Given the description of an element on the screen output the (x, y) to click on. 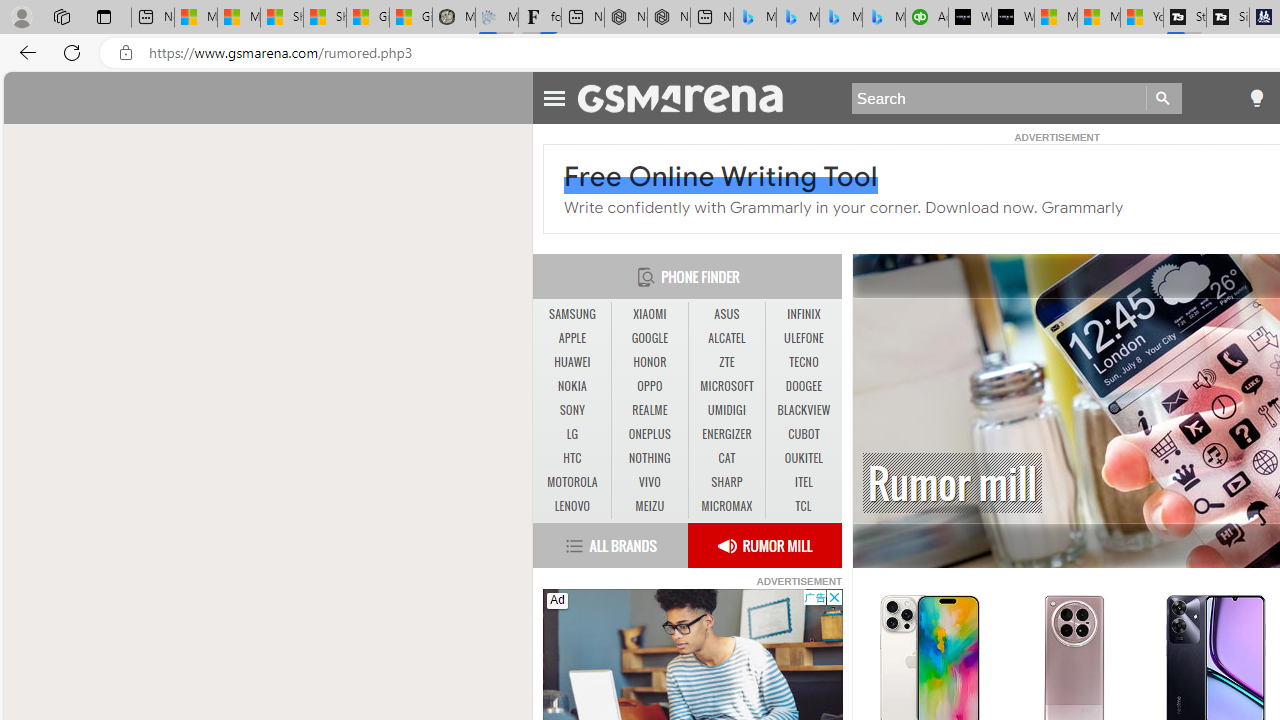
NOTHING (649, 458)
UMIDIGI (726, 411)
DOOGEE (803, 385)
APPLE (571, 338)
